Given the description of an element on the screen output the (x, y) to click on. 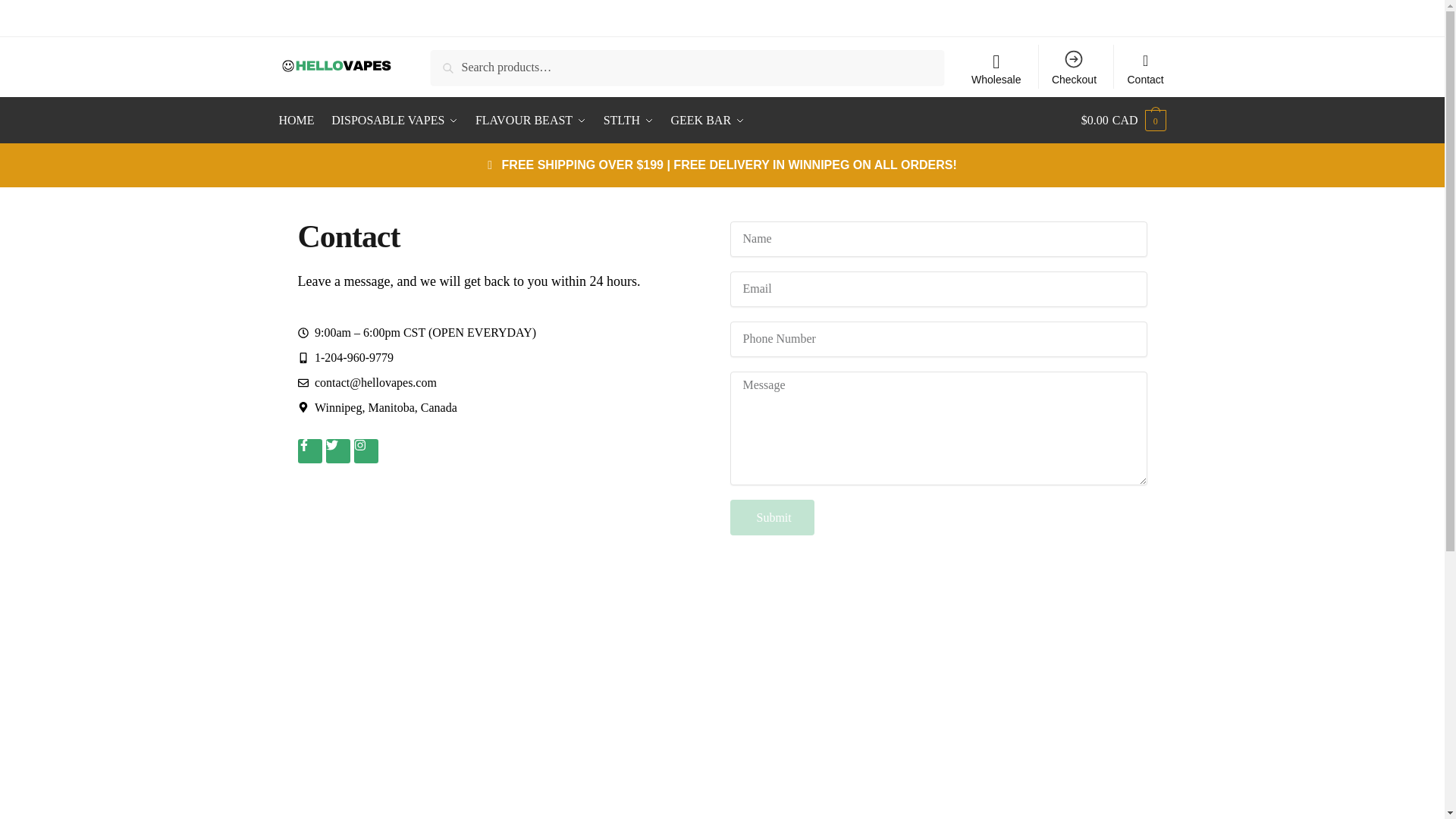
GEEK BAR (707, 120)
FLAVOUR BEAST (530, 120)
View your shopping cart (1123, 120)
Contact (1145, 66)
Wholesale (996, 70)
HOME (300, 120)
Checkout (1074, 66)
DISPOSABLE VAPES (394, 120)
Search (451, 60)
STLTH (628, 120)
